Given the description of an element on the screen output the (x, y) to click on. 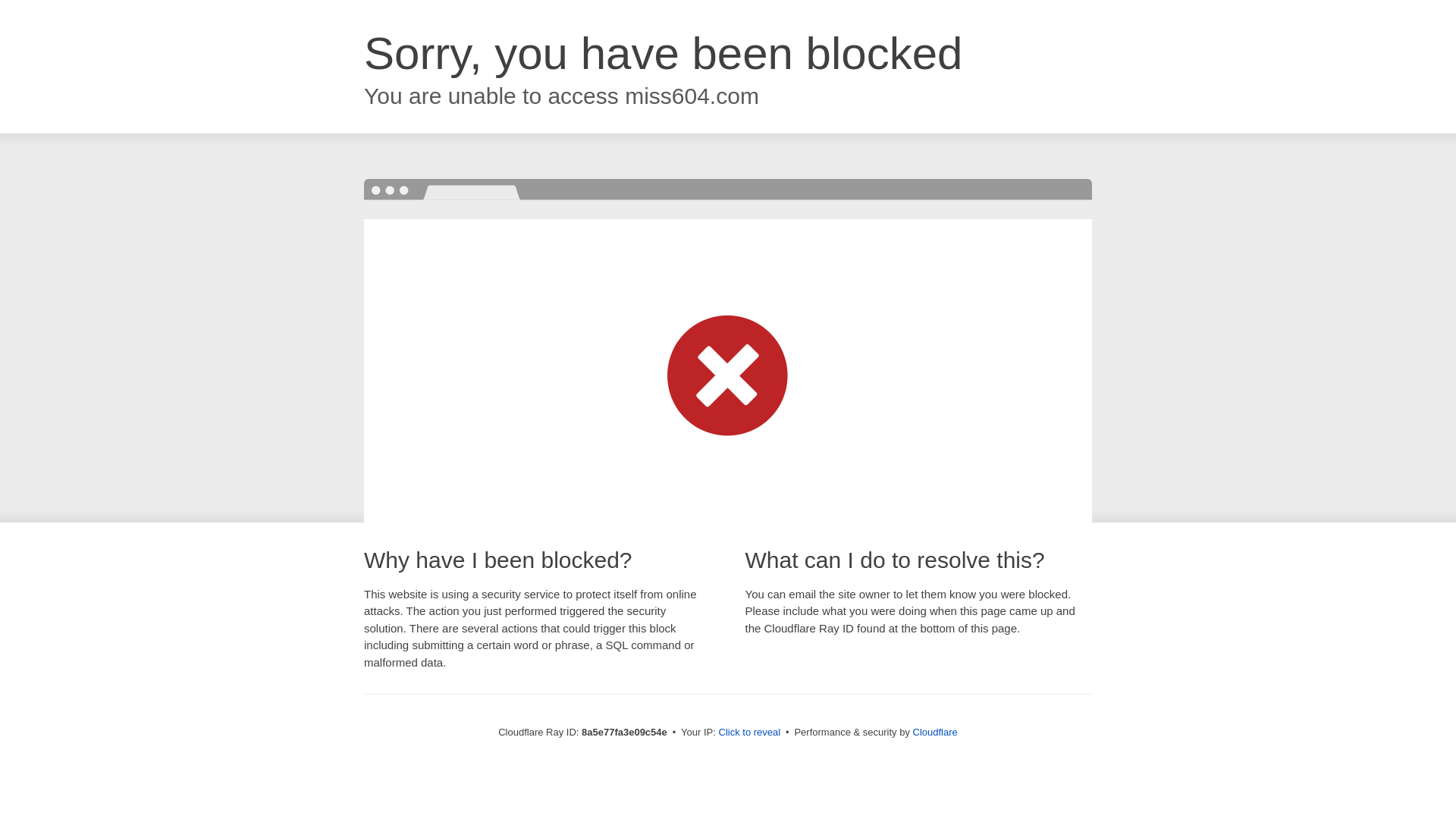
Click to reveal (749, 732)
Cloudflare (935, 731)
